Given the description of an element on the screen output the (x, y) to click on. 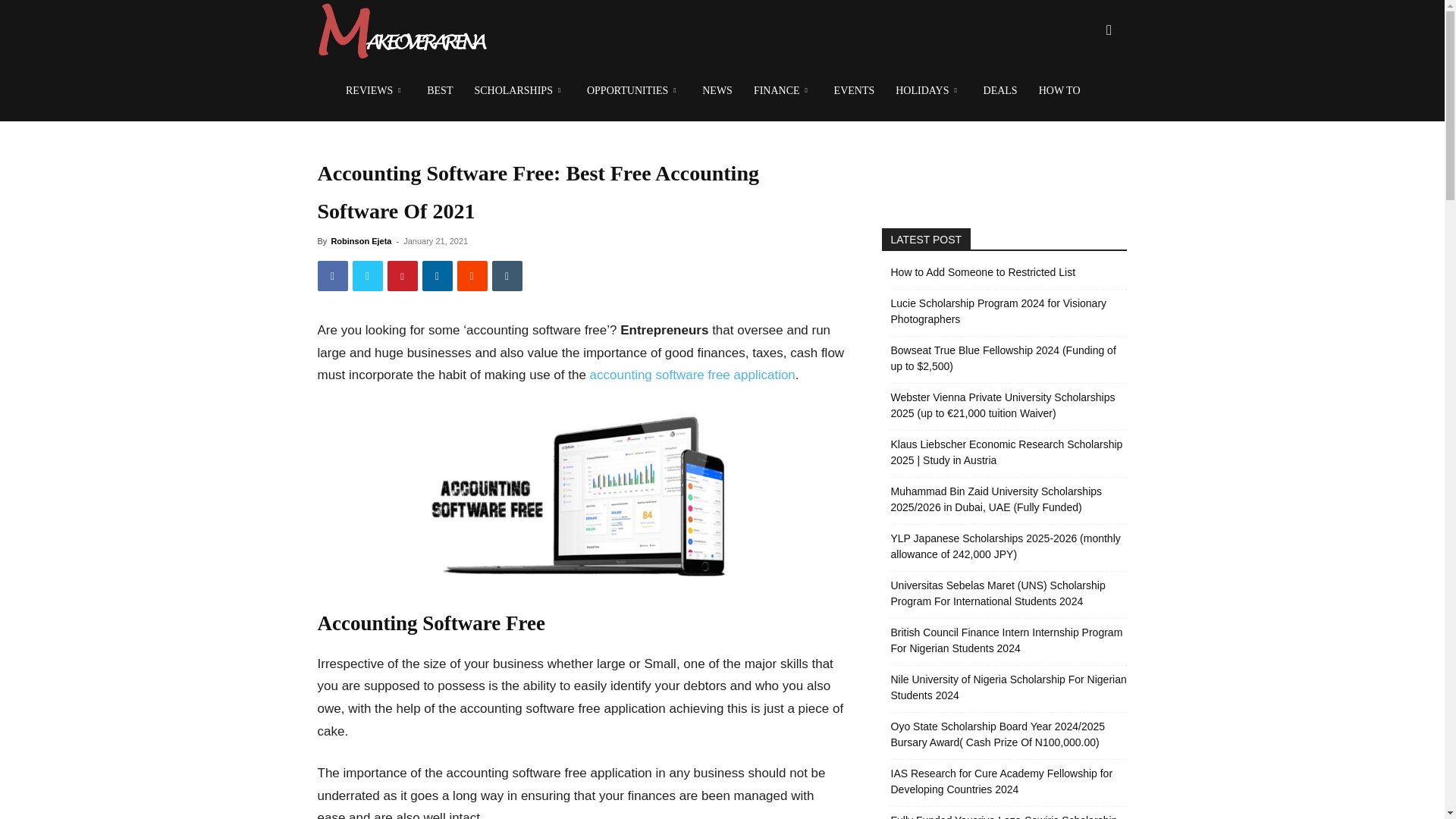
Pinterest (401, 276)
Twitter (366, 276)
Tumblr (506, 276)
ReddIt (471, 276)
Facebook (332, 276)
Linkedin (436, 276)
